Given the description of an element on the screen output the (x, y) to click on. 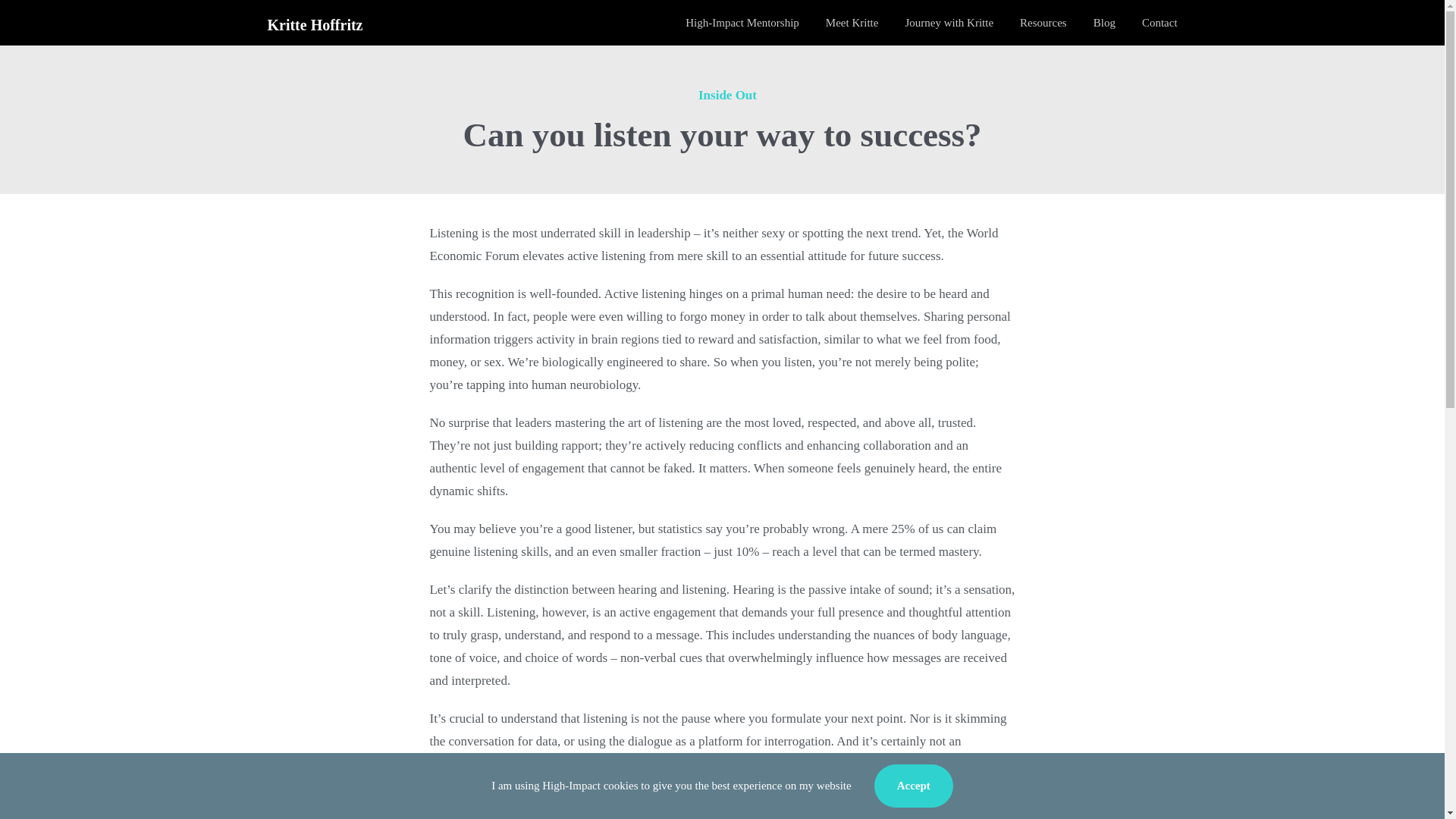
Kritte Hoffritz (314, 24)
High-Impact Mentorship (742, 22)
Meet Kritte (852, 22)
Resources (1043, 22)
Inside Out (727, 94)
Journey with Kritte (948, 22)
